Given the description of an element on the screen output the (x, y) to click on. 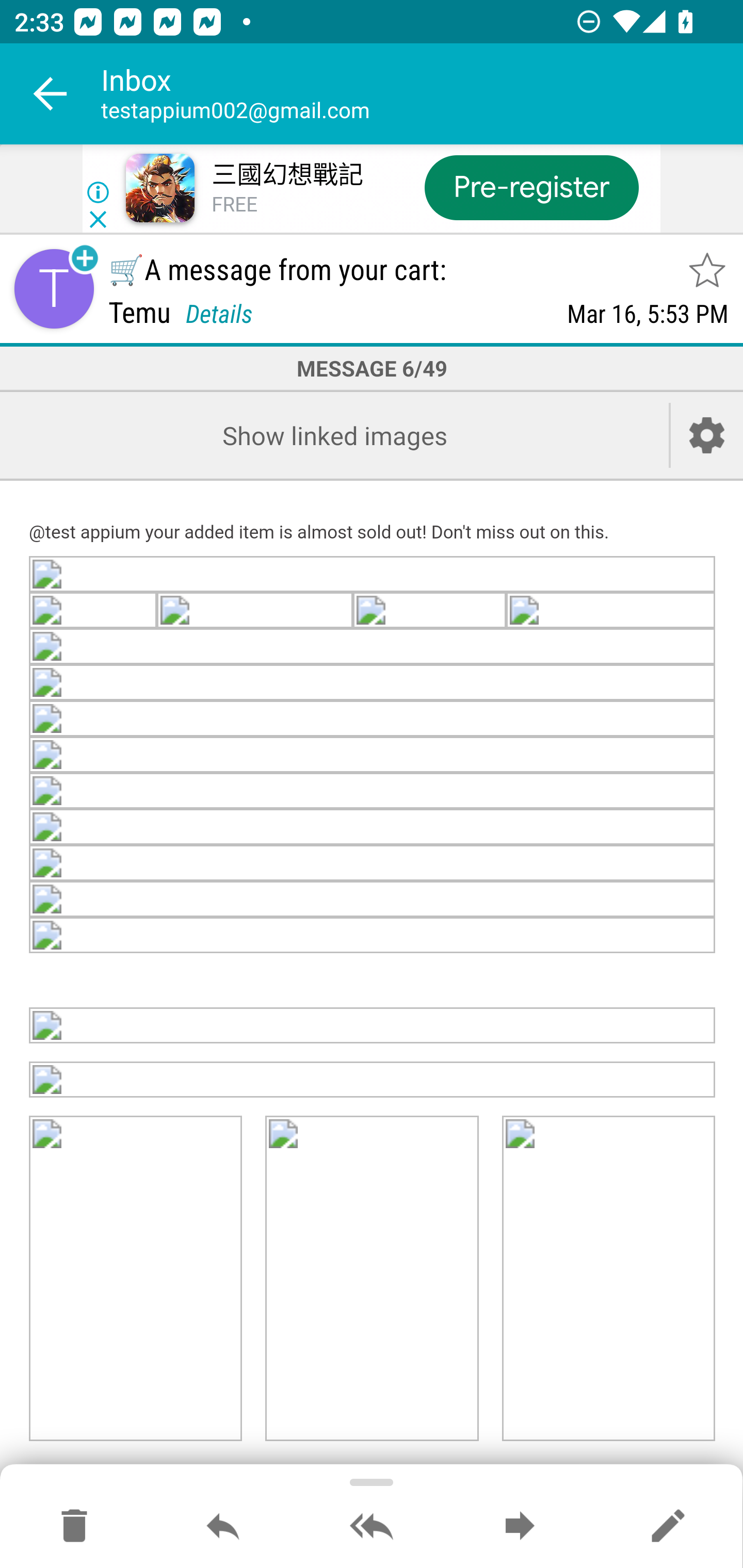
Navigate up (50, 93)
Inbox testappium002@gmail.com (422, 93)
Pre-register (530, 187)
三國幻想戰記 (287, 175)
FREE (234, 204)
Sender contact button (53, 289)
Show linked images (334, 435)
Account setup (706, 435)
data: (372, 575)
data: (93, 611)
data: (254, 611)
data: (429, 611)
data: (610, 611)
data: (372, 647)
data: (372, 718)
data: (372, 791)
data: (372, 827)
data: (372, 863)
data: (372, 899)
data: (372, 935)
data: (372, 1025)
mbs_landing_goods (372, 1080)
mbs_landing_goods (135, 1279)
mbs_landing_goods (371, 1279)
mbs_landing_goods (608, 1279)
Move to Deleted (74, 1527)
Reply (222, 1527)
Reply all (371, 1527)
Forward (519, 1527)
Reply as new (667, 1527)
